Given the description of an element on the screen output the (x, y) to click on. 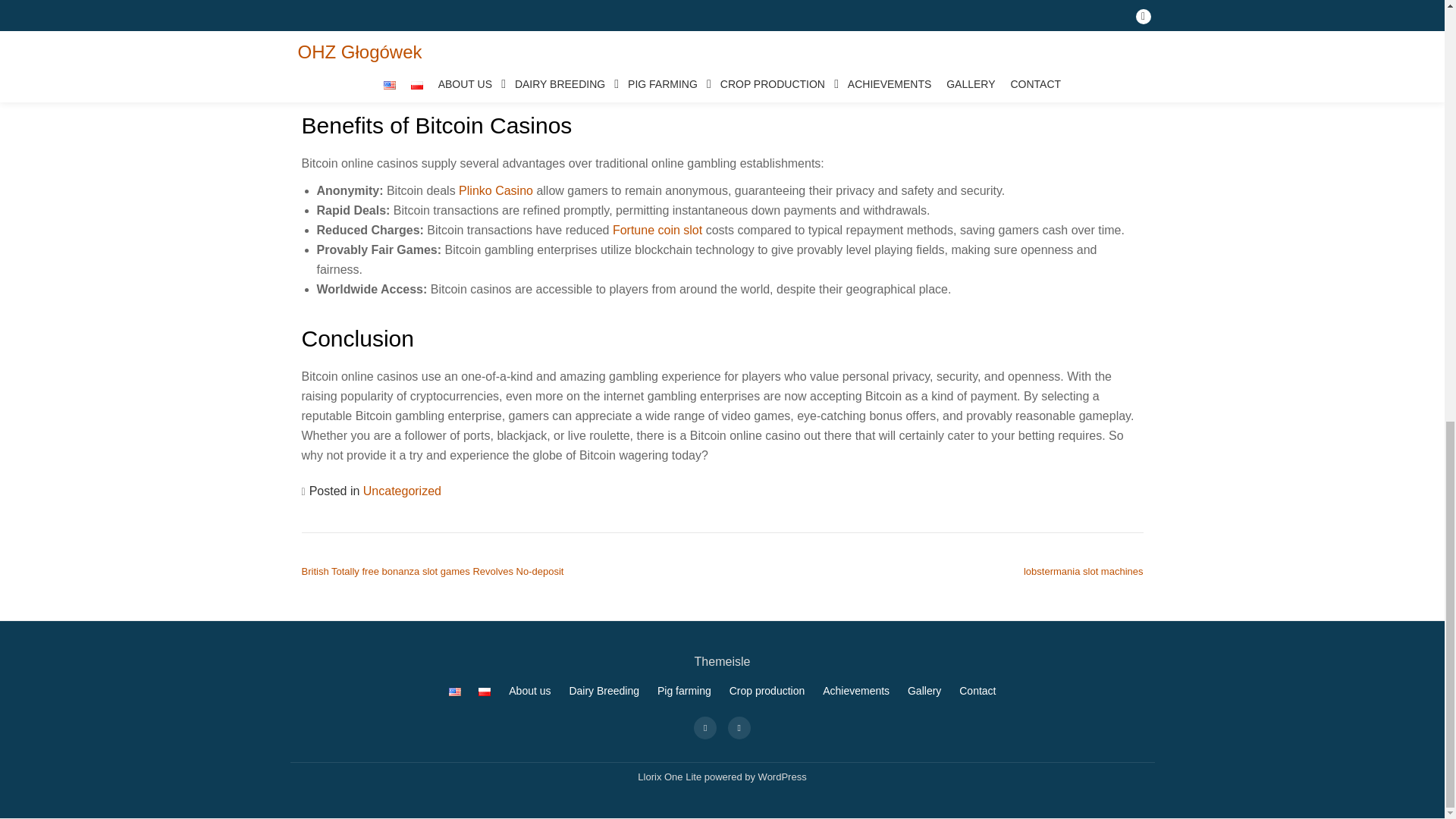
fa-facebook (705, 726)
Pig farming (684, 690)
About us (529, 690)
lobstermania slot machines (1082, 571)
Dairy Breeding (604, 690)
Gallery (923, 690)
Uncategorized (401, 490)
British Totally free bonanza slot games Revolves No-deposit (432, 571)
Contact (977, 690)
fa-youtube (738, 726)
